Given the description of an element on the screen output the (x, y) to click on. 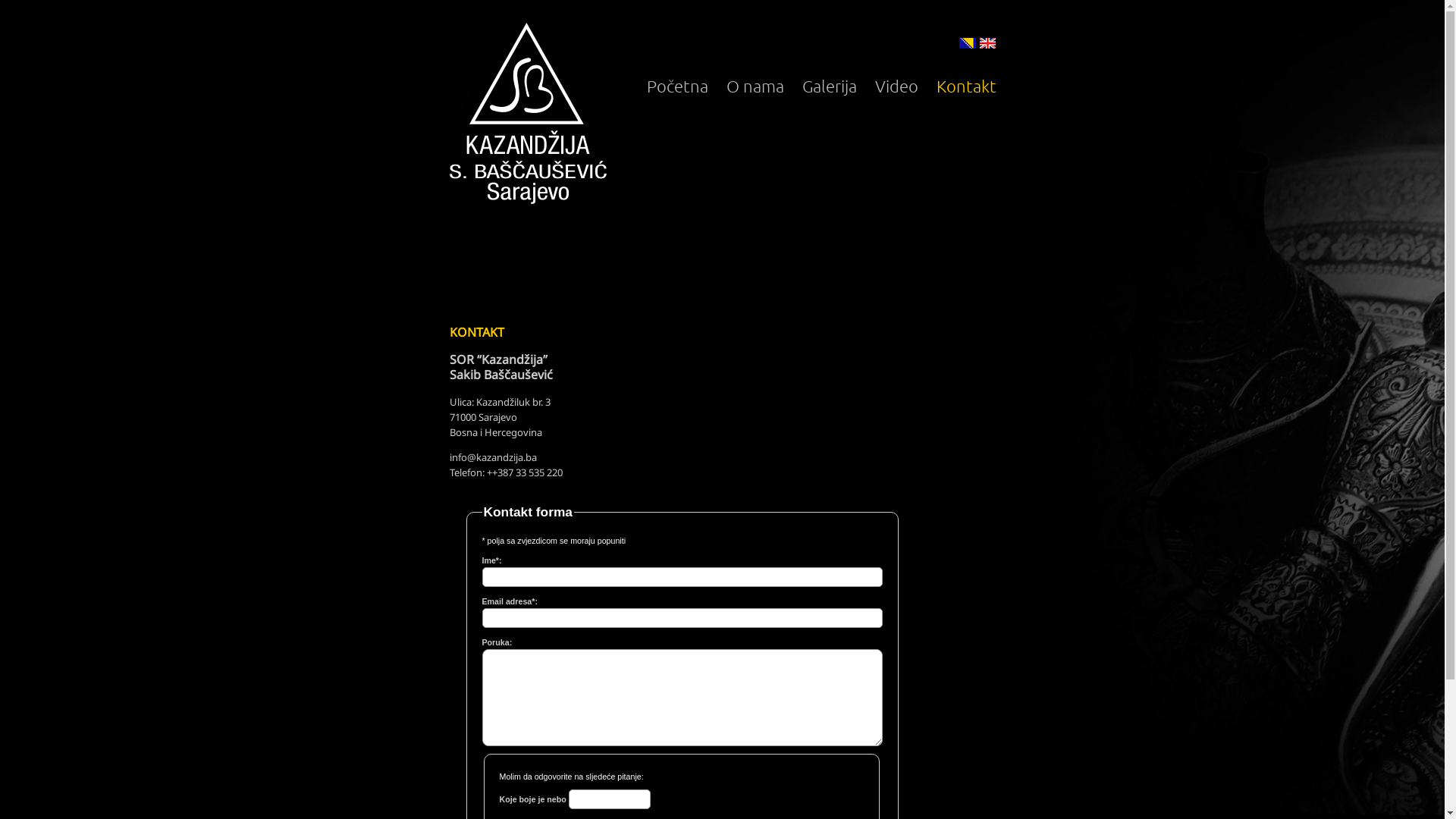
Kontakt Element type: text (965, 85)
O nama Element type: text (755, 85)
Video Element type: text (896, 85)
Galerija Element type: text (829, 85)
